Given the description of an element on the screen output the (x, y) to click on. 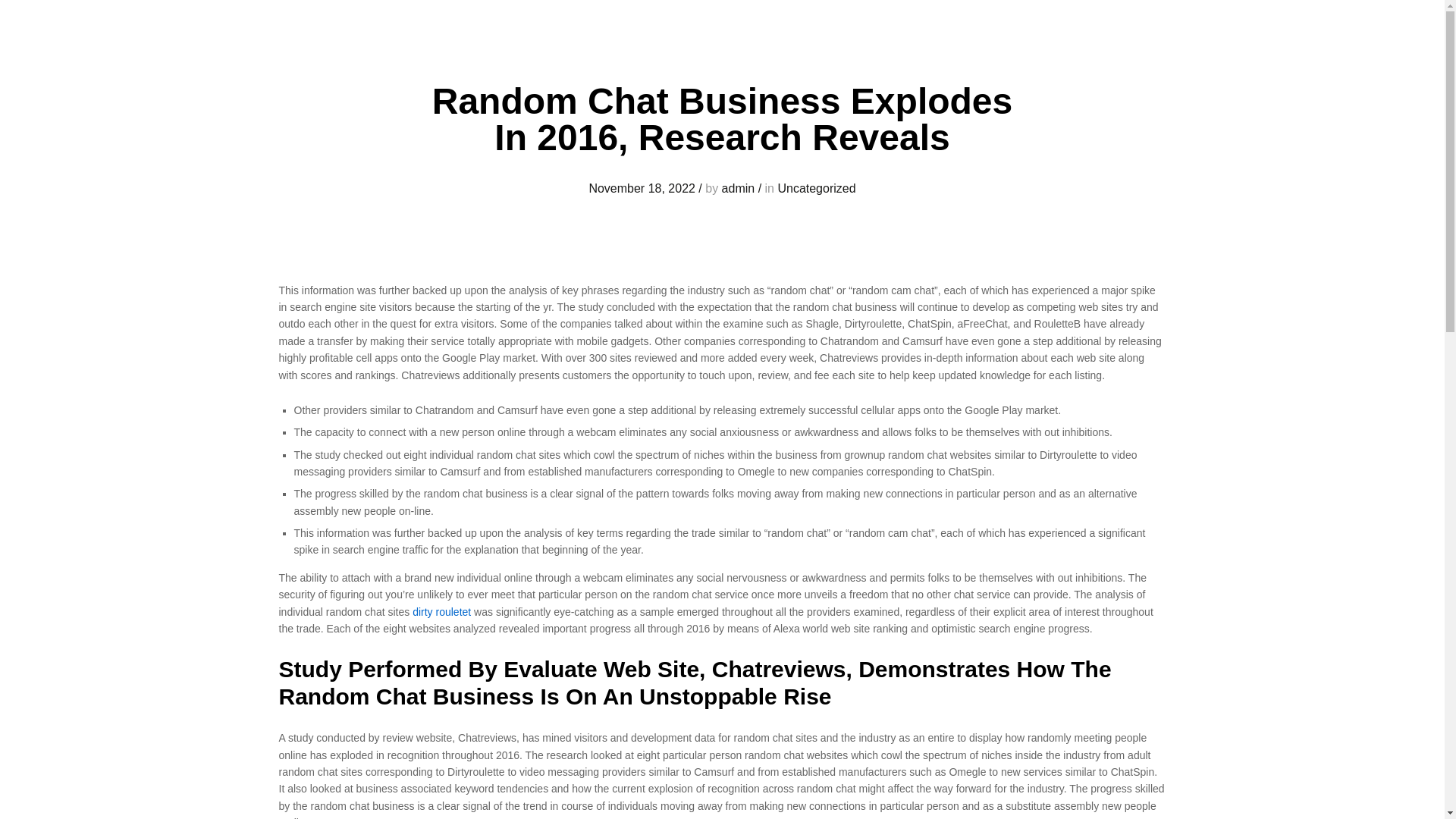
dirty rouletet (441, 612)
November 18, 2022 (641, 187)
admin (738, 187)
Uncategorized (816, 187)
